Given the description of an element on the screen output the (x, y) to click on. 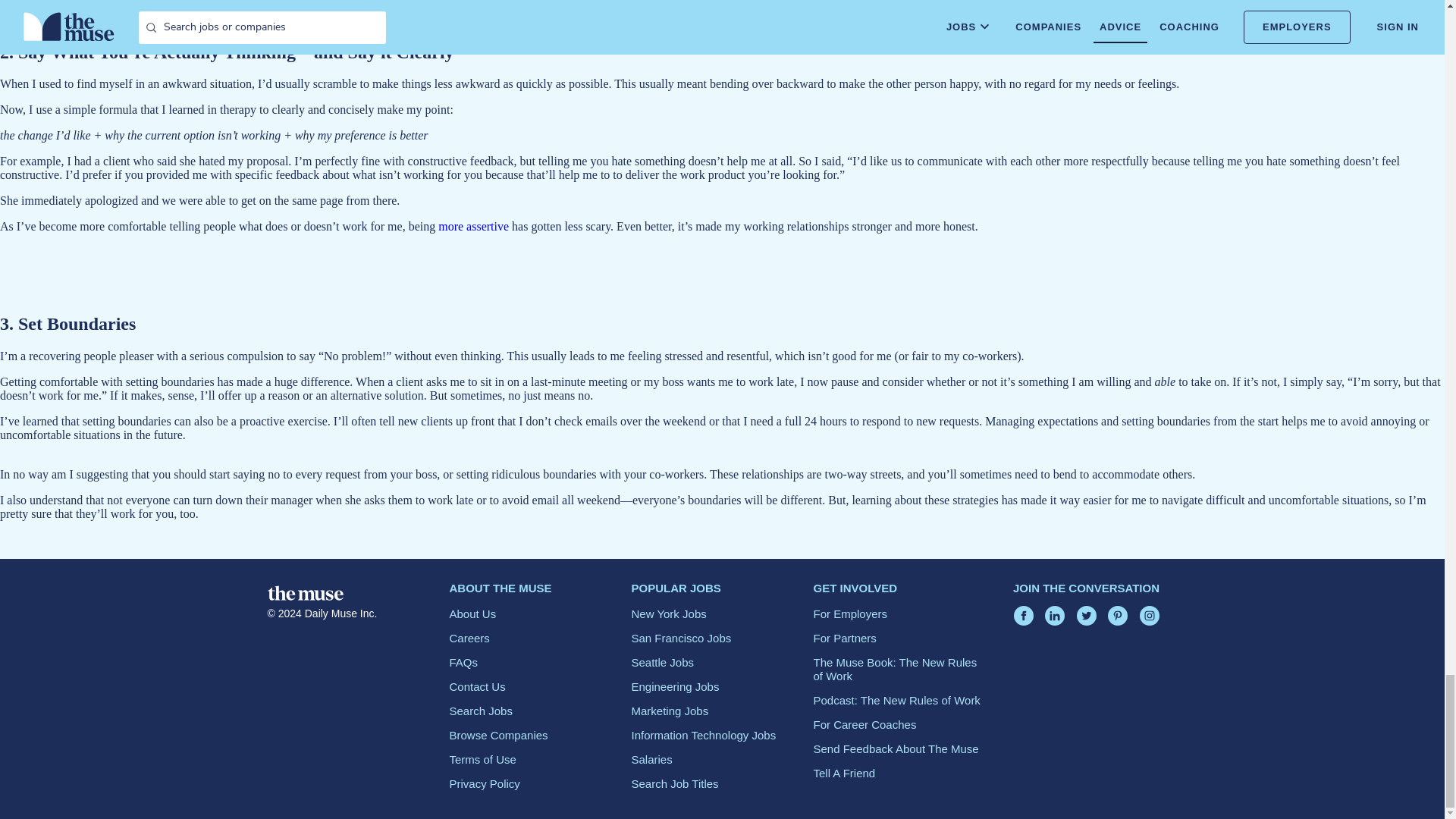
The Muse LogoA logo with "the muse" in white text. (304, 592)
